Given the description of an element on the screen output the (x, y) to click on. 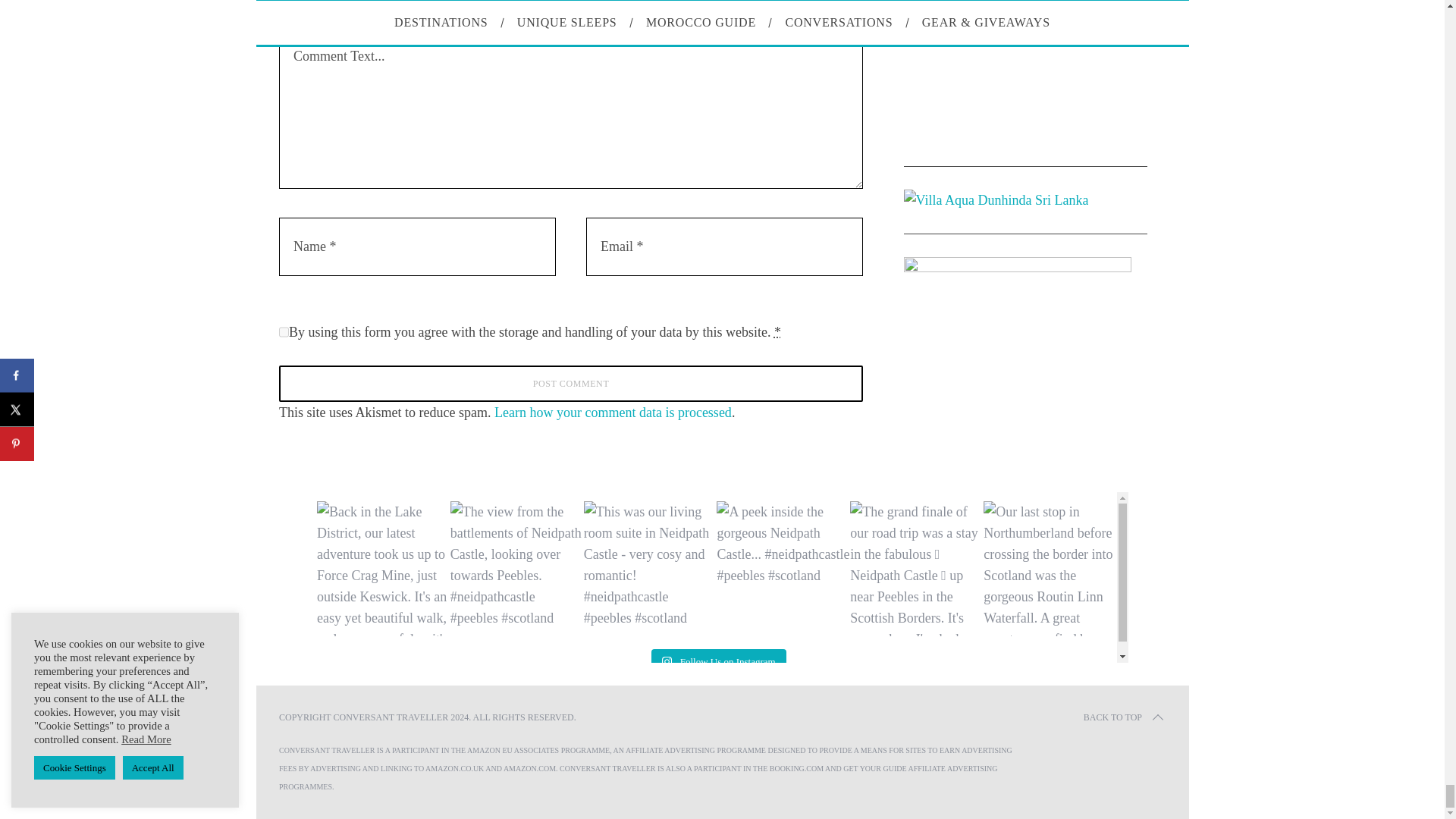
Post Comment (571, 383)
